Given the description of an element on the screen output the (x, y) to click on. 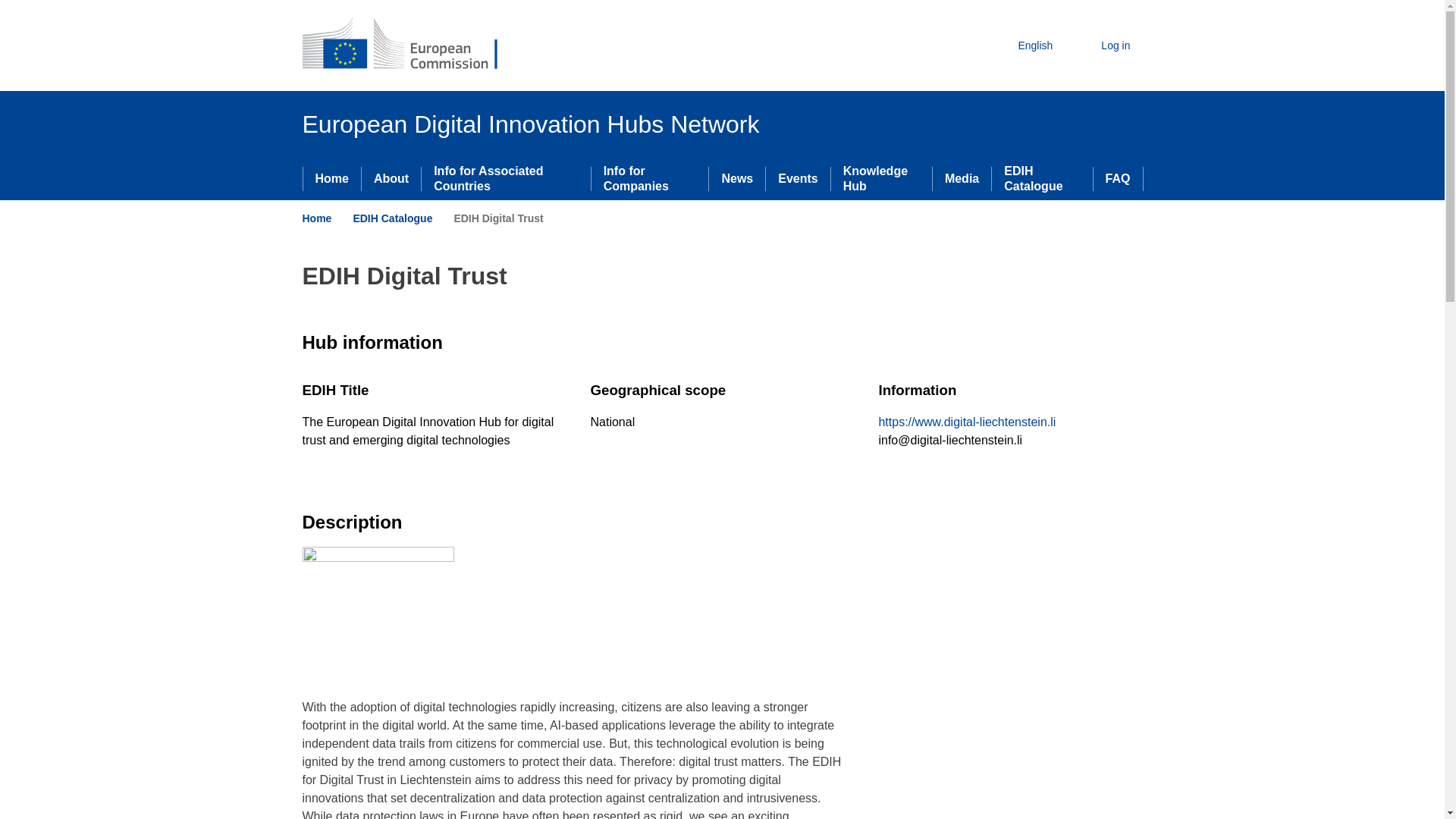
EDIH Catalogue (1041, 178)
Events (797, 178)
Home (316, 218)
Skip to main content (6, 6)
Home (331, 178)
English (1022, 45)
Knowledge Hub (881, 178)
FAQ (1117, 178)
EDIH Catalogue (392, 218)
Info for Associated Countries (505, 178)
